Given the description of an element on the screen output the (x, y) to click on. 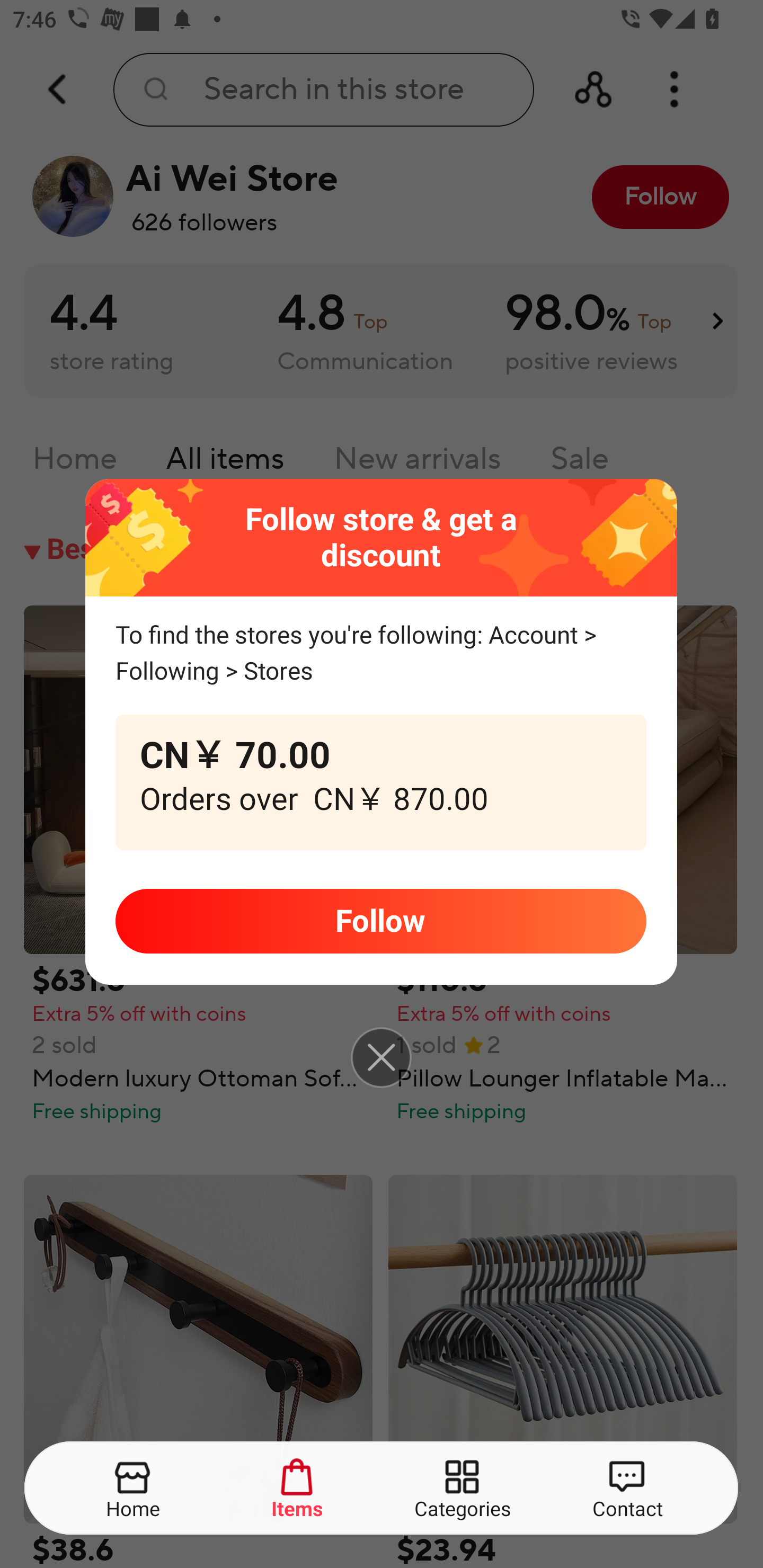
Follow (380, 921)
Home (133, 1488)
Items (297, 1488)
Categories (462, 1488)
Contact (627, 1488)
